Given the description of an element on the screen output the (x, y) to click on. 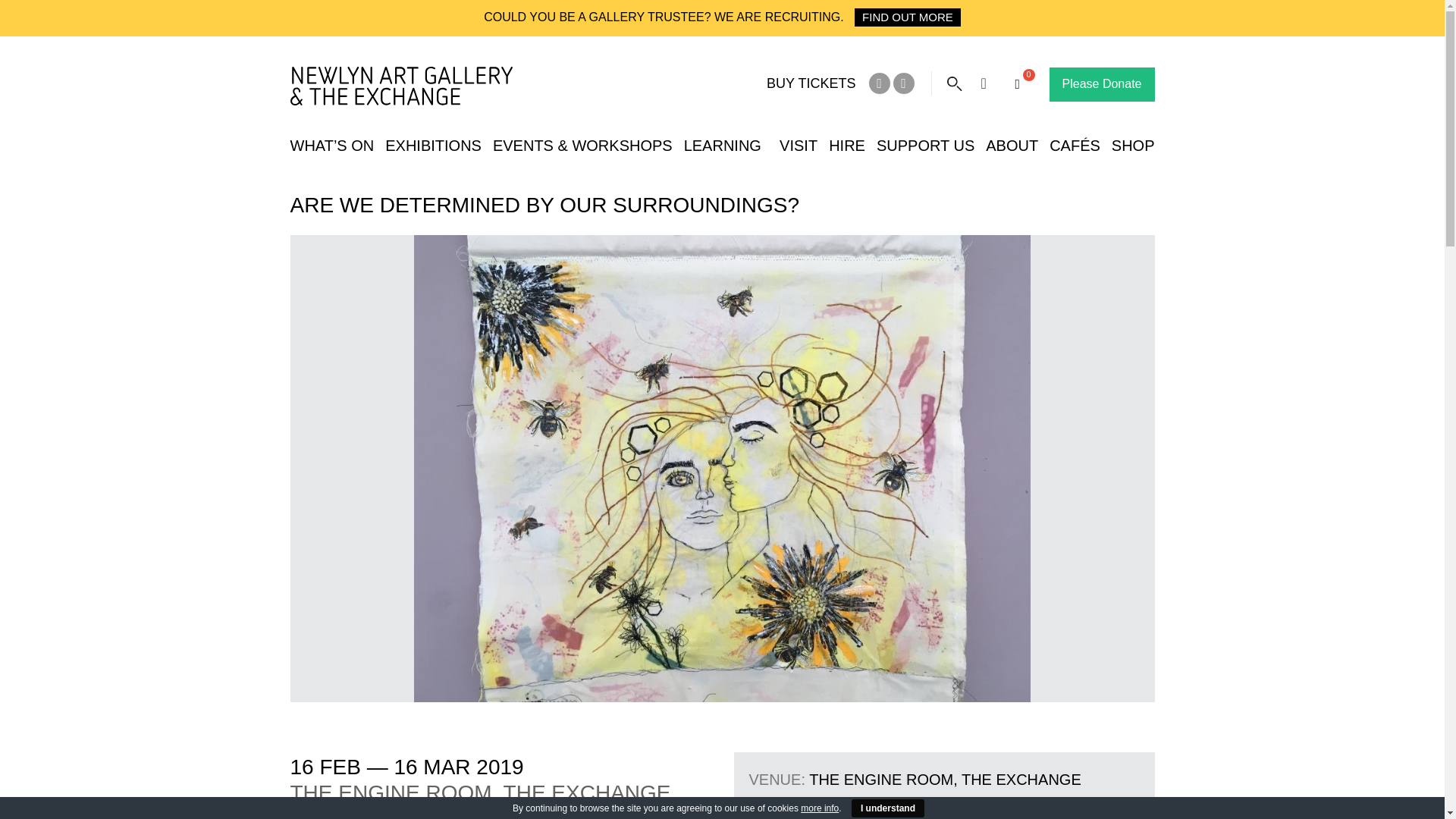
VISIT (797, 145)
ABOUT (1011, 145)
Instagram (903, 83)
Please Donate (1101, 83)
SHOP (1133, 145)
Facebook (879, 83)
FIND OUT MORE (907, 17)
FIND ON MAP (798, 803)
SUPPORT US (925, 145)
EXHIBITIONS (433, 145)
